Given the description of an element on the screen output the (x, y) to click on. 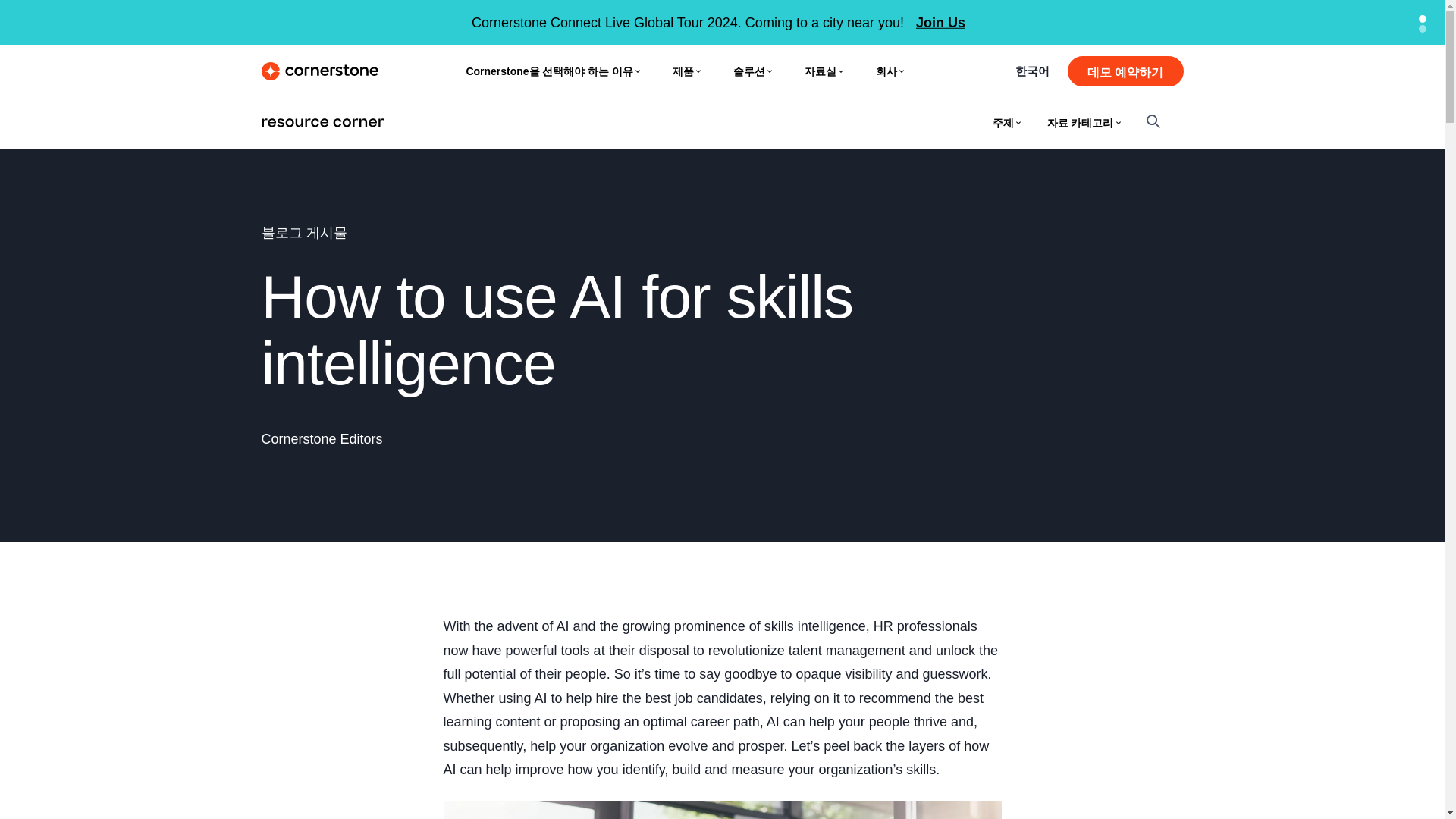
Join Us (940, 22)
